Given the description of an element on the screen output the (x, y) to click on. 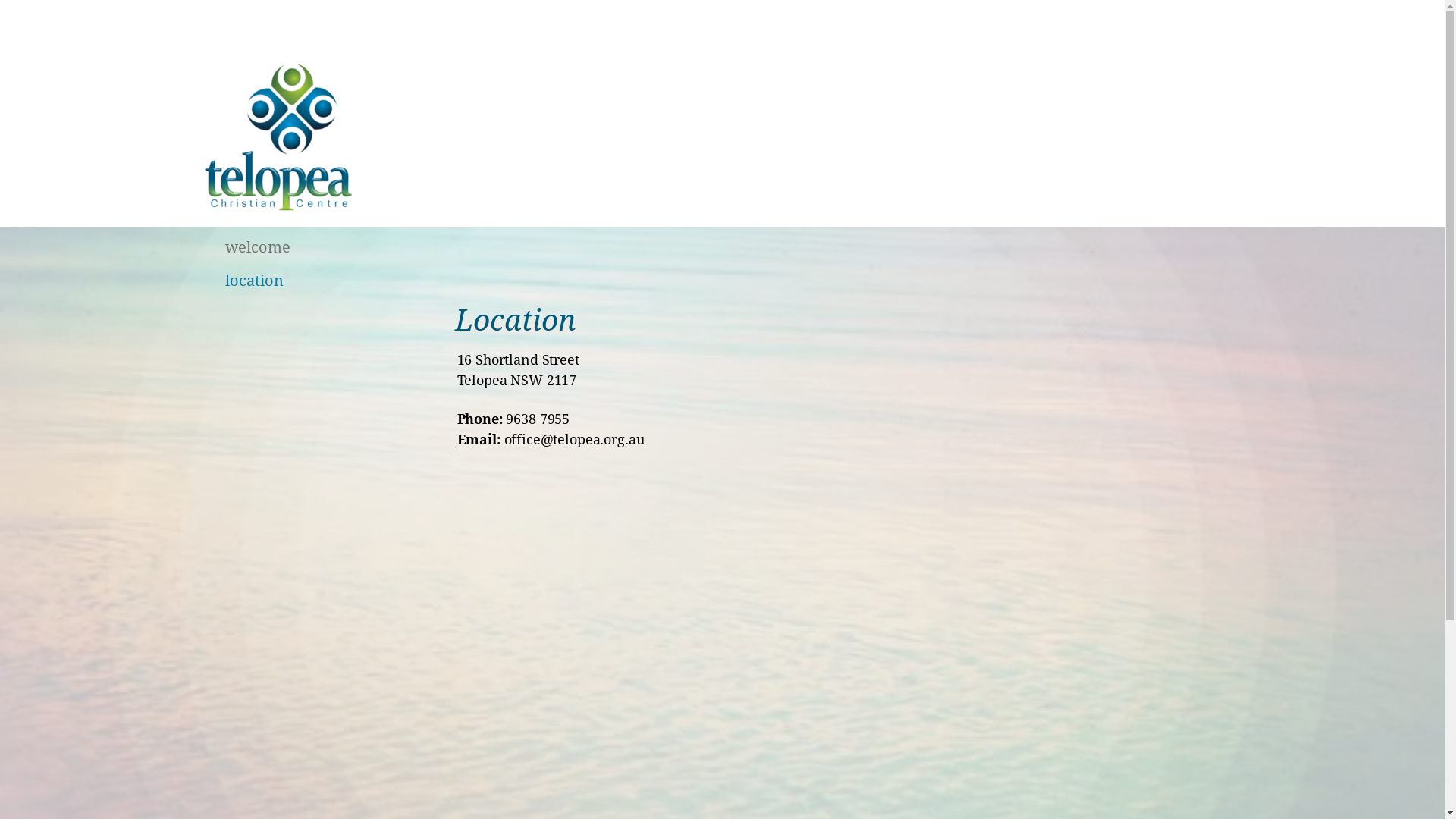
welcome Element type: text (297, 246)
location Element type: text (297, 280)
